Given the description of an element on the screen output the (x, y) to click on. 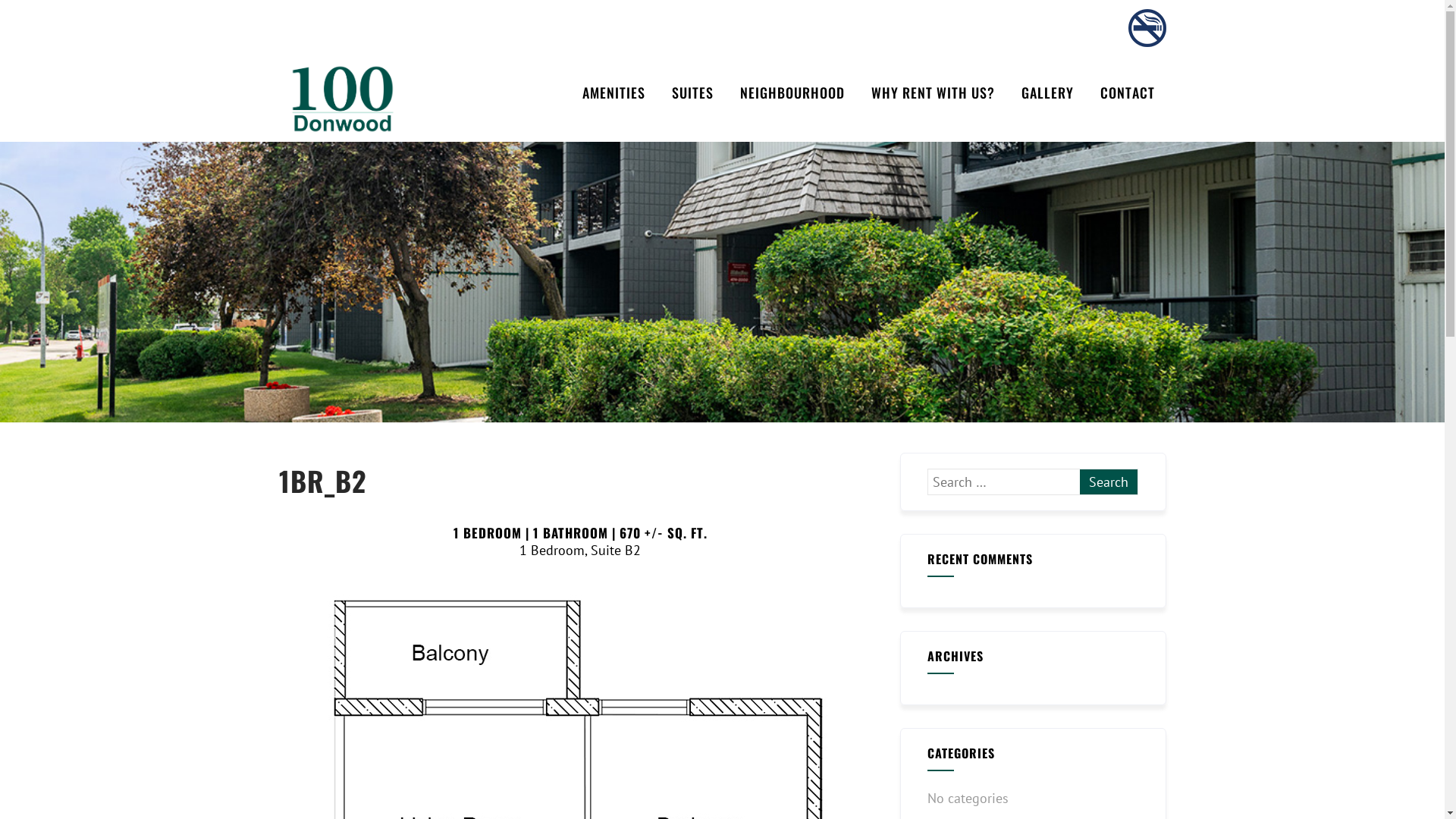
CONTACT Element type: text (1127, 92)
SUITES Element type: text (691, 92)
NEIGHBOURHOOD Element type: text (791, 92)
AMENITIES Element type: text (612, 92)
WHY RENT WITH US? Element type: text (932, 92)
Search Element type: text (1108, 481)
100 Donwood Element type: hover (394, 97)
GALLERY Element type: text (1047, 92)
